Given the description of an element on the screen output the (x, y) to click on. 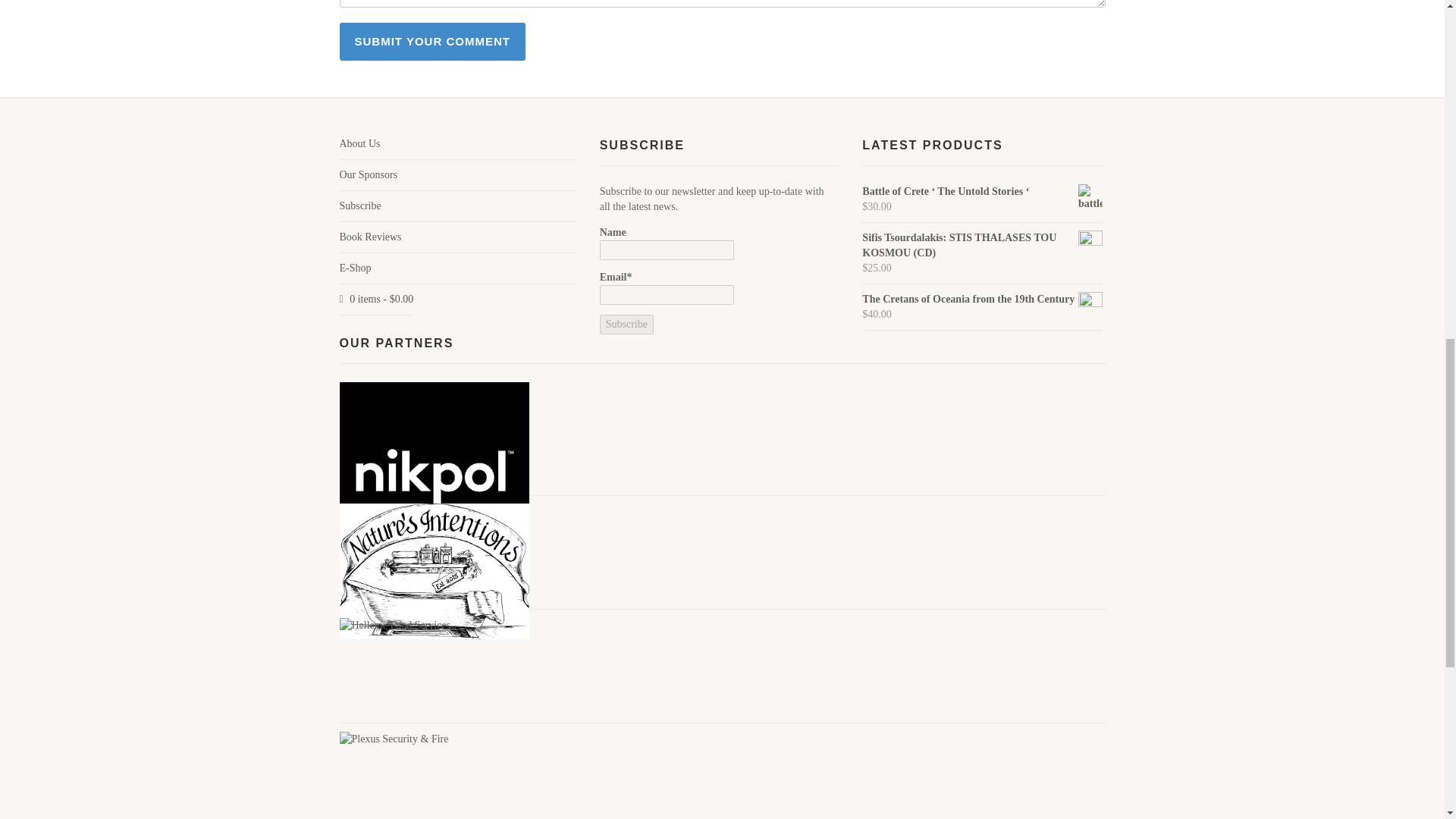
Hellenic Food Services (395, 625)
Start shopping (376, 299)
The Cretans of Oceania from the 19th Century (981, 299)
Natures Intentions (434, 571)
Submit your comment (432, 41)
Nikpol (434, 476)
Subscribe (626, 324)
